Given the description of an element on the screen output the (x, y) to click on. 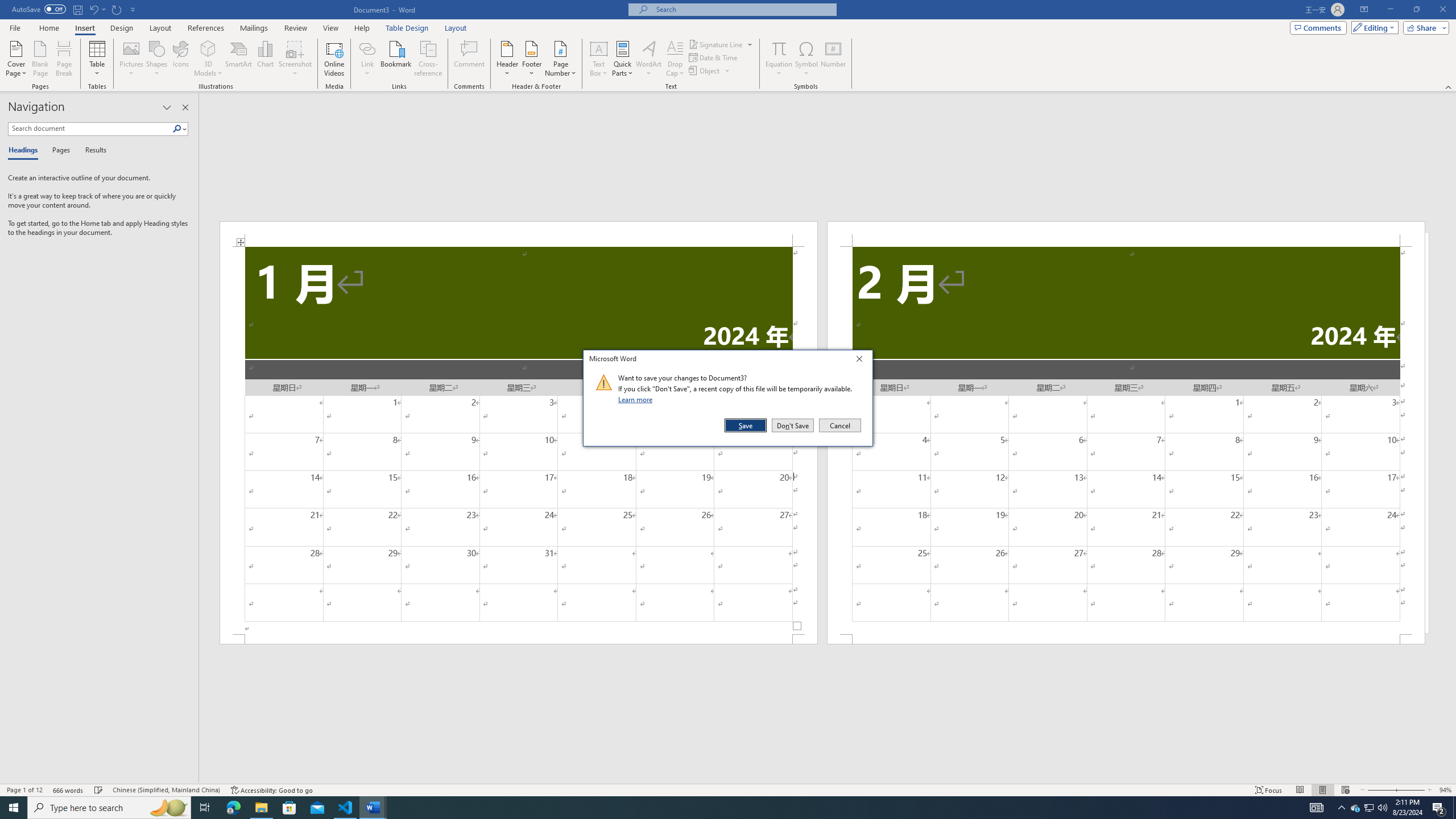
Screenshot (295, 58)
Print Layout (1322, 790)
Header -Section 1- (518, 233)
Undo Increase Indent (96, 9)
Headings (25, 150)
Comments (1318, 27)
Task Pane Options (167, 107)
Class: NetUIImage (603, 382)
User Promoted Notification Area (1368, 807)
Word Count 666 words (68, 790)
Mailings (253, 28)
Design (122, 28)
Footer (531, 58)
System (6, 6)
